Given the description of an element on the screen output the (x, y) to click on. 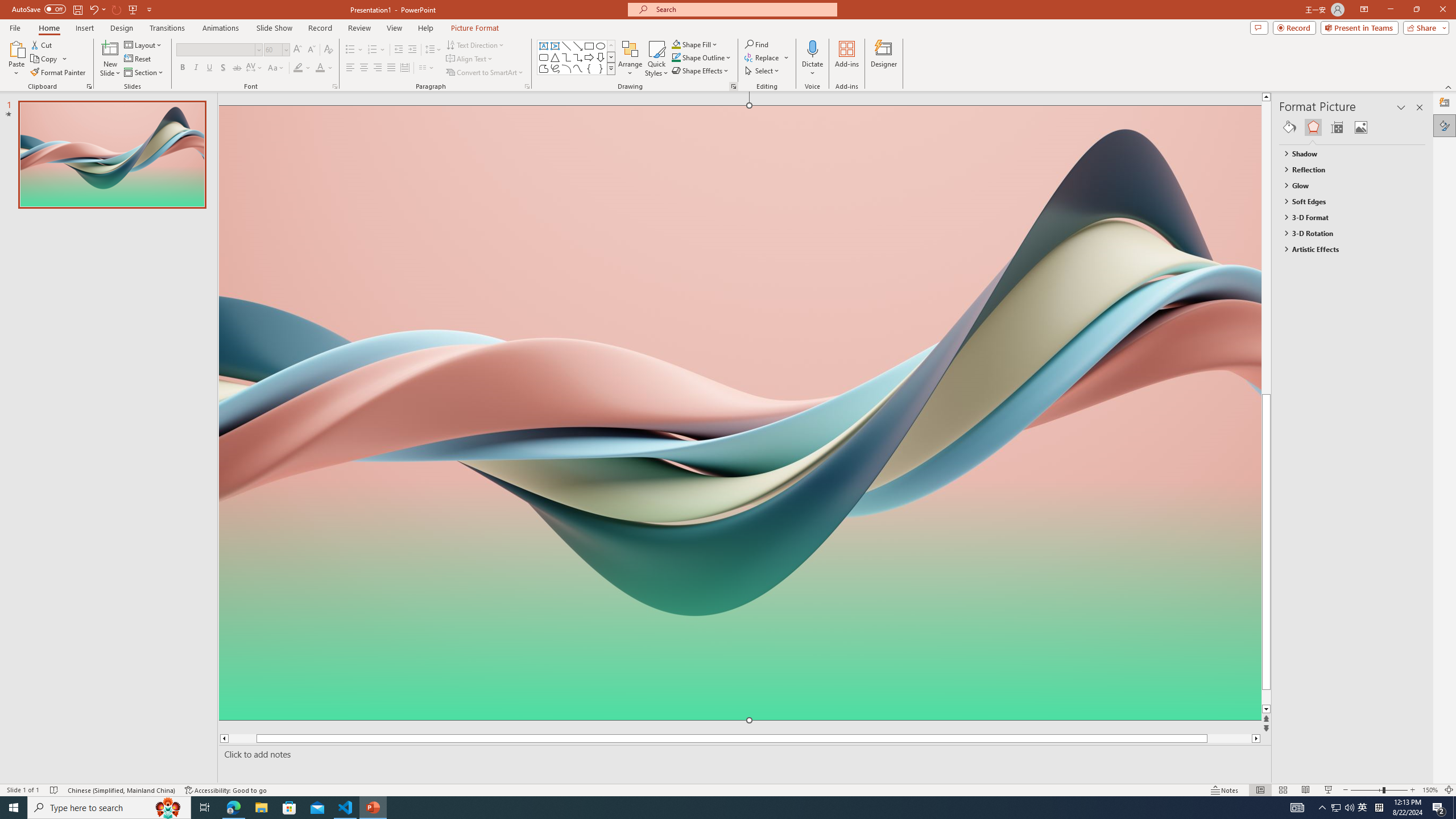
Picture (1361, 126)
Zoom 150% (1430, 790)
